Given the description of an element on the screen output the (x, y) to click on. 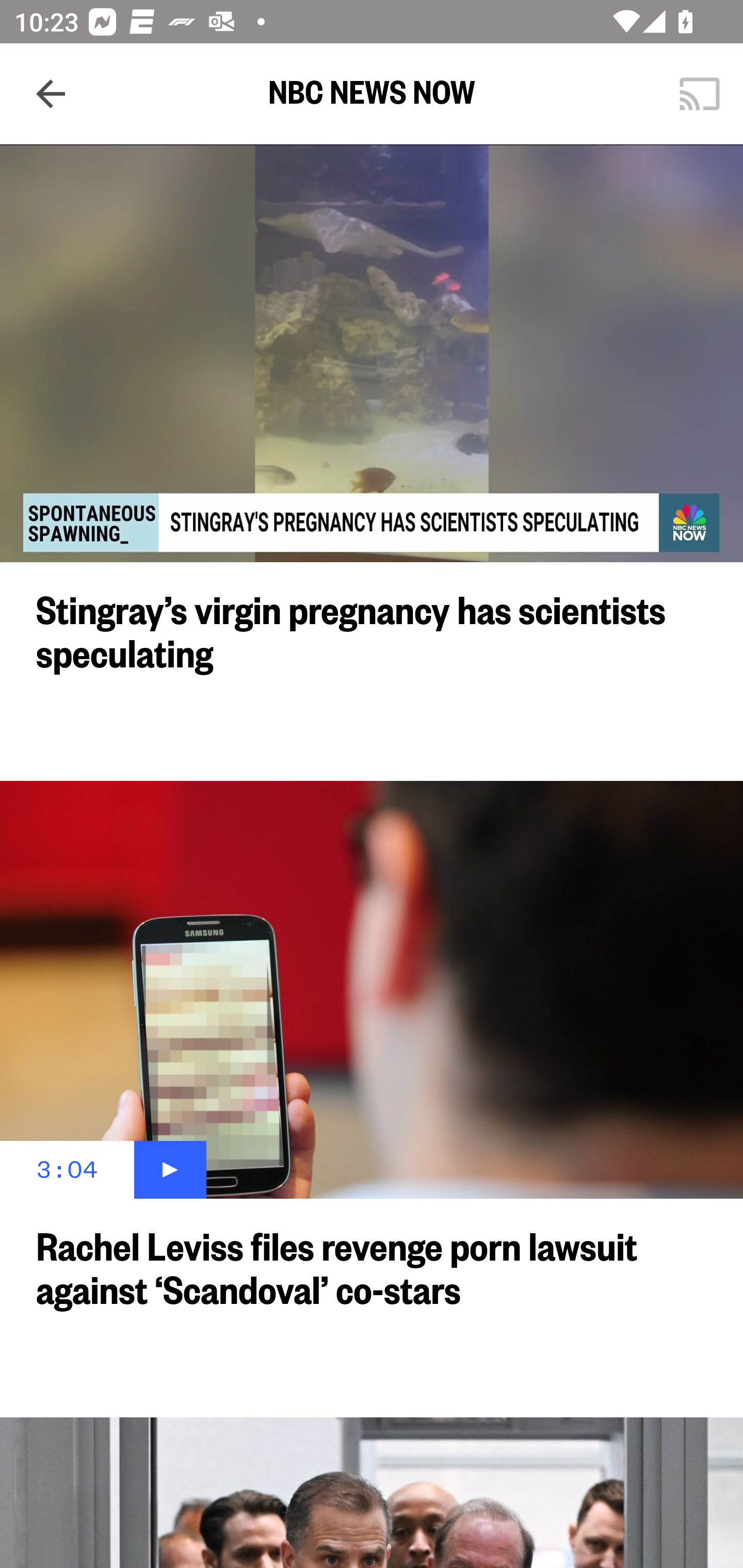
Navigate up (50, 93)
Cast. Disconnected (699, 93)
